Given the description of an element on the screen output the (x, y) to click on. 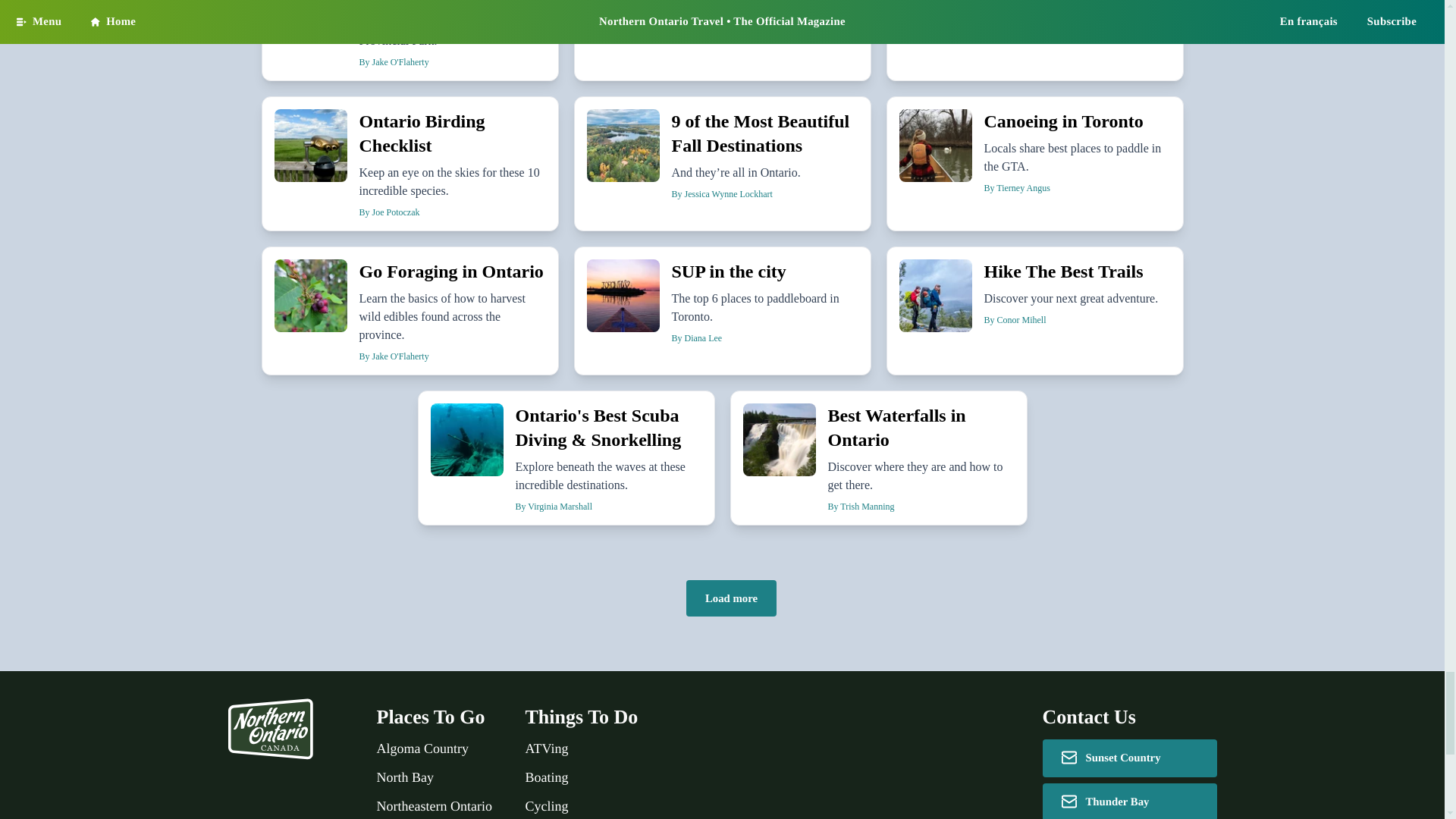
Load more (730, 597)
